Given the description of an element on the screen output the (x, y) to click on. 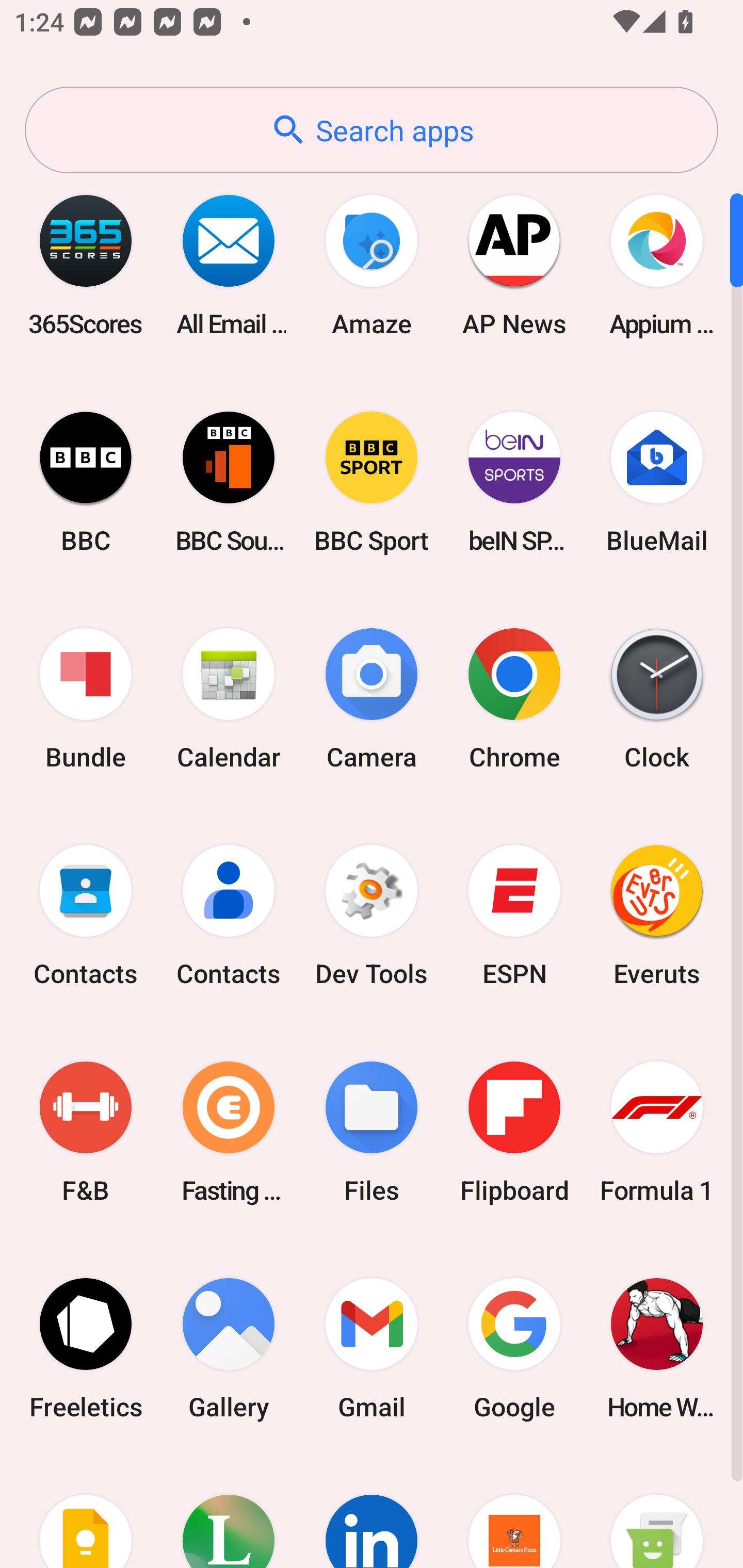
  Search apps (371, 130)
365Scores (85, 264)
All Email Connect (228, 264)
Amaze (371, 264)
AP News (514, 264)
Appium Settings (656, 264)
BBC (85, 482)
BBC Sounds (228, 482)
BBC Sport (371, 482)
beIN SPORTS (514, 482)
BlueMail (656, 482)
Bundle (85, 699)
Calendar (228, 699)
Camera (371, 699)
Chrome (514, 699)
Clock (656, 699)
Contacts (85, 915)
Contacts (228, 915)
Dev Tools (371, 915)
ESPN (514, 915)
Everuts (656, 915)
F&B (85, 1131)
Fasting Coach (228, 1131)
Files (371, 1131)
Flipboard (514, 1131)
Formula 1 (656, 1131)
Freeletics (85, 1348)
Gallery (228, 1348)
Gmail (371, 1348)
Google (514, 1348)
Home Workout (656, 1348)
Keep Notes (85, 1512)
Lifesum (228, 1512)
LinkedIn (371, 1512)
Little Caesars Pizza (514, 1512)
Messaging (656, 1512)
